Given the description of an element on the screen output the (x, y) to click on. 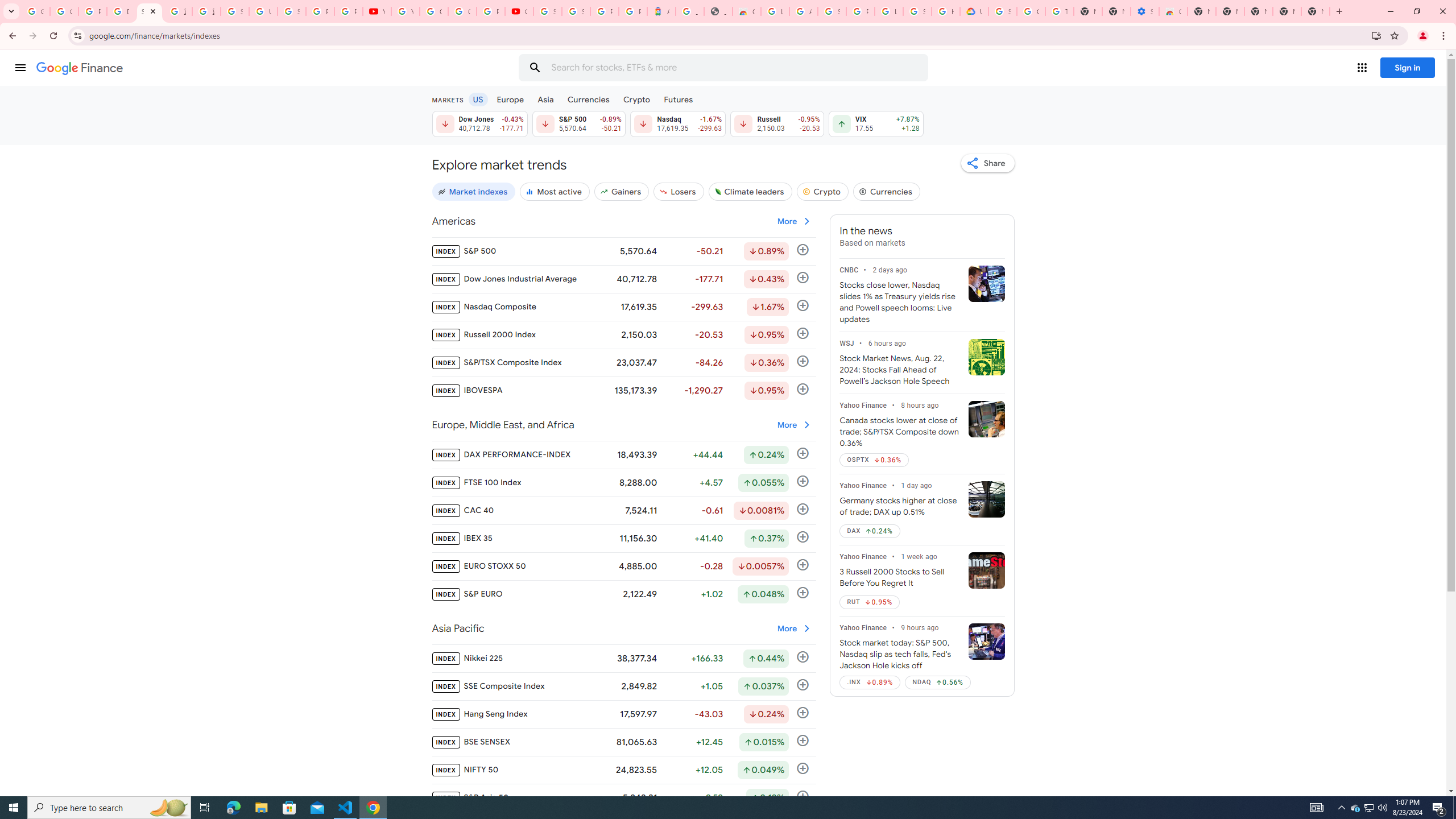
INDEX S&P 500 5,570.64 -50.21 Down by 0.89% Follow (623, 251)
INDEX S&P Asia 50 5,243.31 +9.59 Up by 0.18% Follow (623, 797)
YouTube (377, 11)
Sign in - Google Accounts (575, 11)
New Tab (1201, 11)
